Given the description of an element on the screen output the (x, y) to click on. 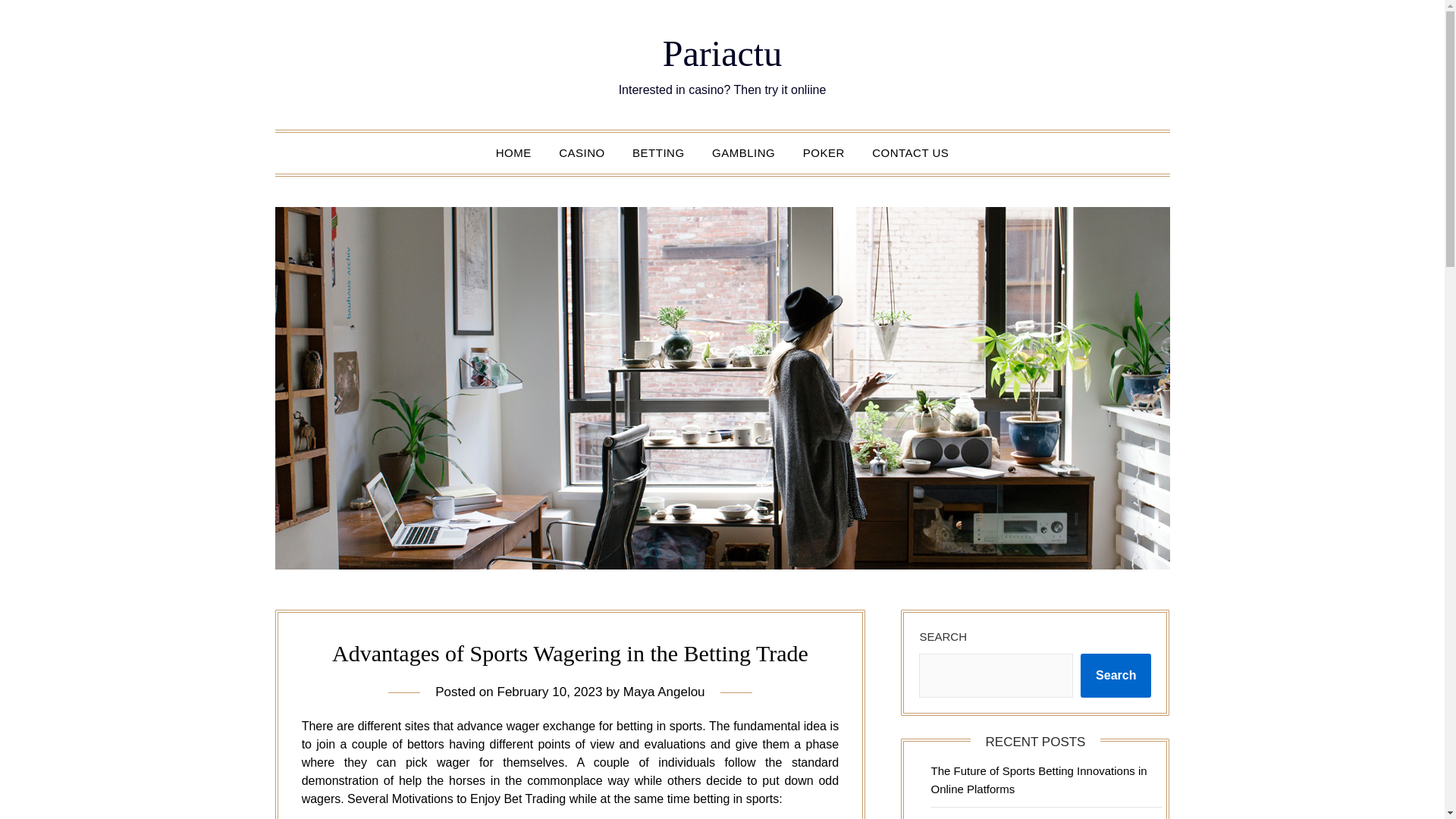
Pariactu (721, 53)
The Future of Sports Betting Innovations in Online Platforms (1038, 779)
February 10, 2023 (549, 691)
HOME (513, 152)
Maya Angelou (663, 691)
CASINO (582, 152)
CONTACT US (910, 152)
BETTING (658, 152)
POKER (823, 152)
Search (1115, 675)
GAMBLING (743, 152)
